Given the description of an element on the screen output the (x, y) to click on. 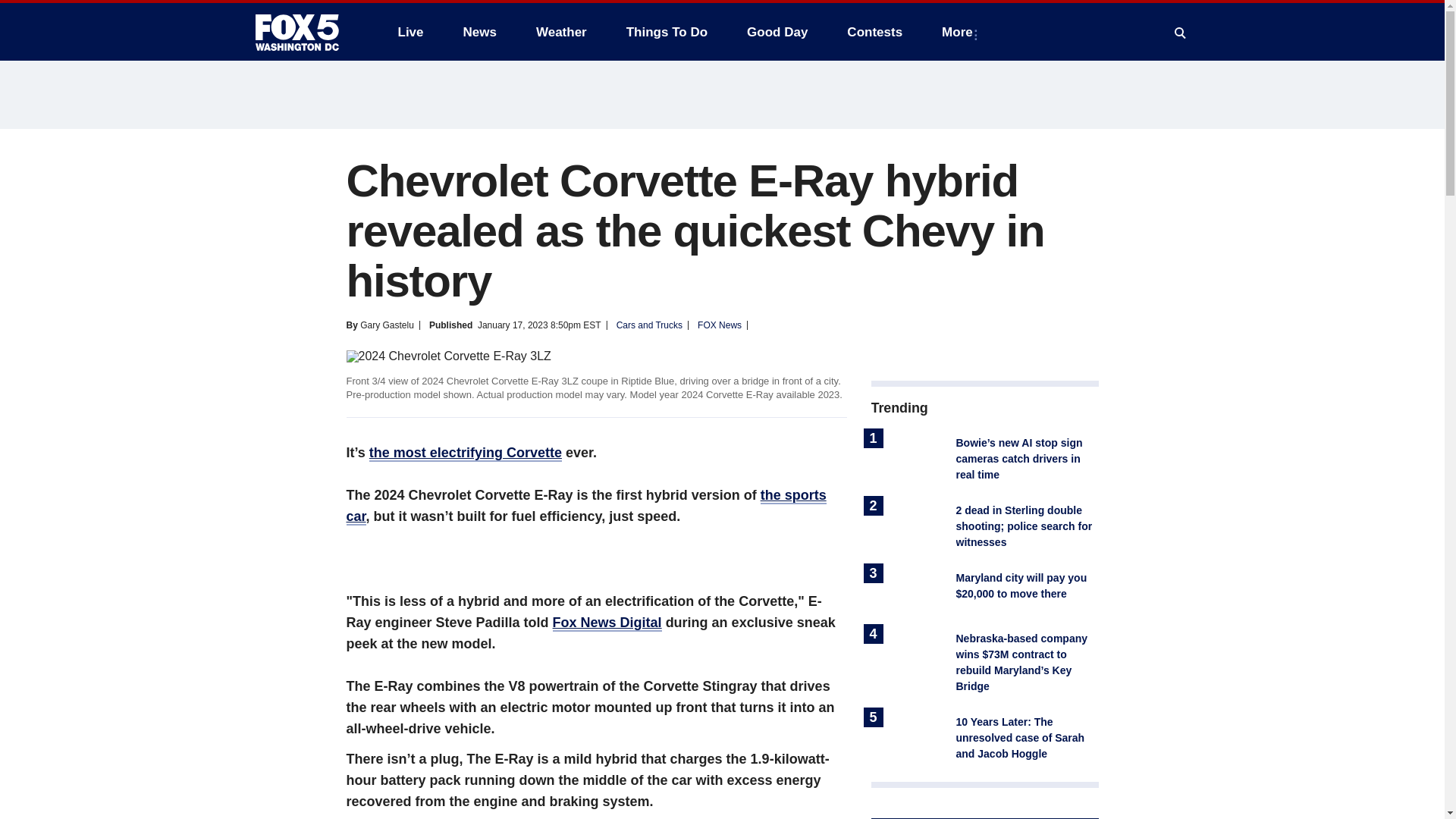
Things To Do (666, 32)
News (479, 32)
Weather (561, 32)
Live (410, 32)
Good Day (777, 32)
More (960, 32)
Contests (874, 32)
